Given the description of an element on the screen output the (x, y) to click on. 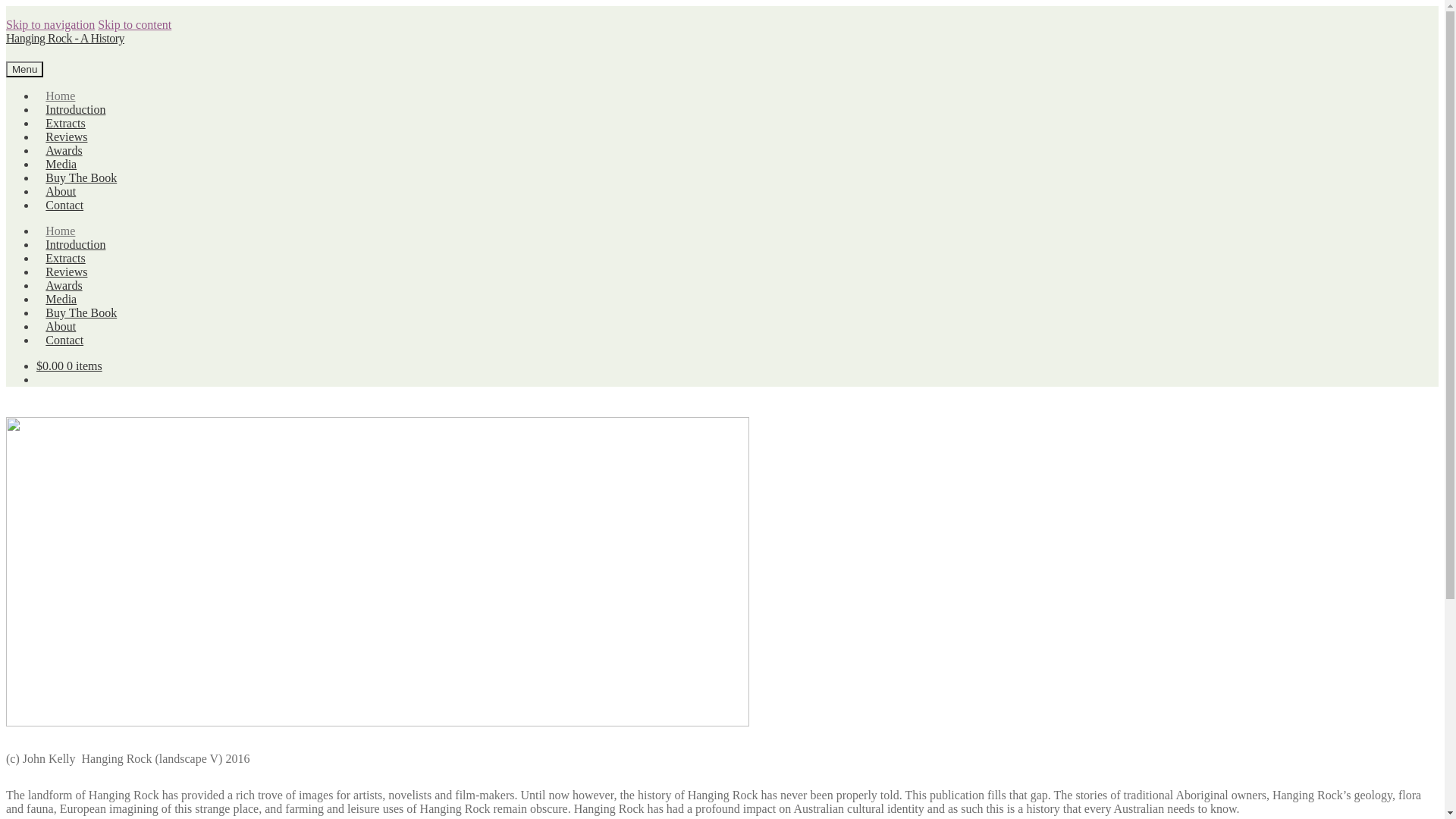
$0.00 0 items Element type: text (69, 365)
Contact Element type: text (64, 340)
Reviews Element type: text (66, 137)
Introduction Element type: text (75, 109)
Buy The Book Element type: text (81, 178)
Skip to navigation Element type: text (50, 24)
Awards Element type: text (63, 285)
Home Element type: text (60, 231)
Reviews Element type: text (66, 272)
About Element type: text (60, 326)
About Element type: text (60, 191)
Search Element type: text (219, 53)
Home Element type: text (60, 96)
Cover for web Element type: hover (377, 571)
Introduction Element type: text (75, 244)
Hanging Rock - A History Element type: text (65, 37)
Media Element type: text (61, 164)
Buy The Book Element type: text (81, 313)
Media Element type: text (61, 299)
Skip to content Element type: text (134, 24)
Extracts Element type: text (65, 258)
Contact Element type: text (64, 205)
Extracts Element type: text (65, 123)
Menu Element type: text (24, 69)
Awards Element type: text (63, 150)
